Given the description of an element on the screen output the (x, y) to click on. 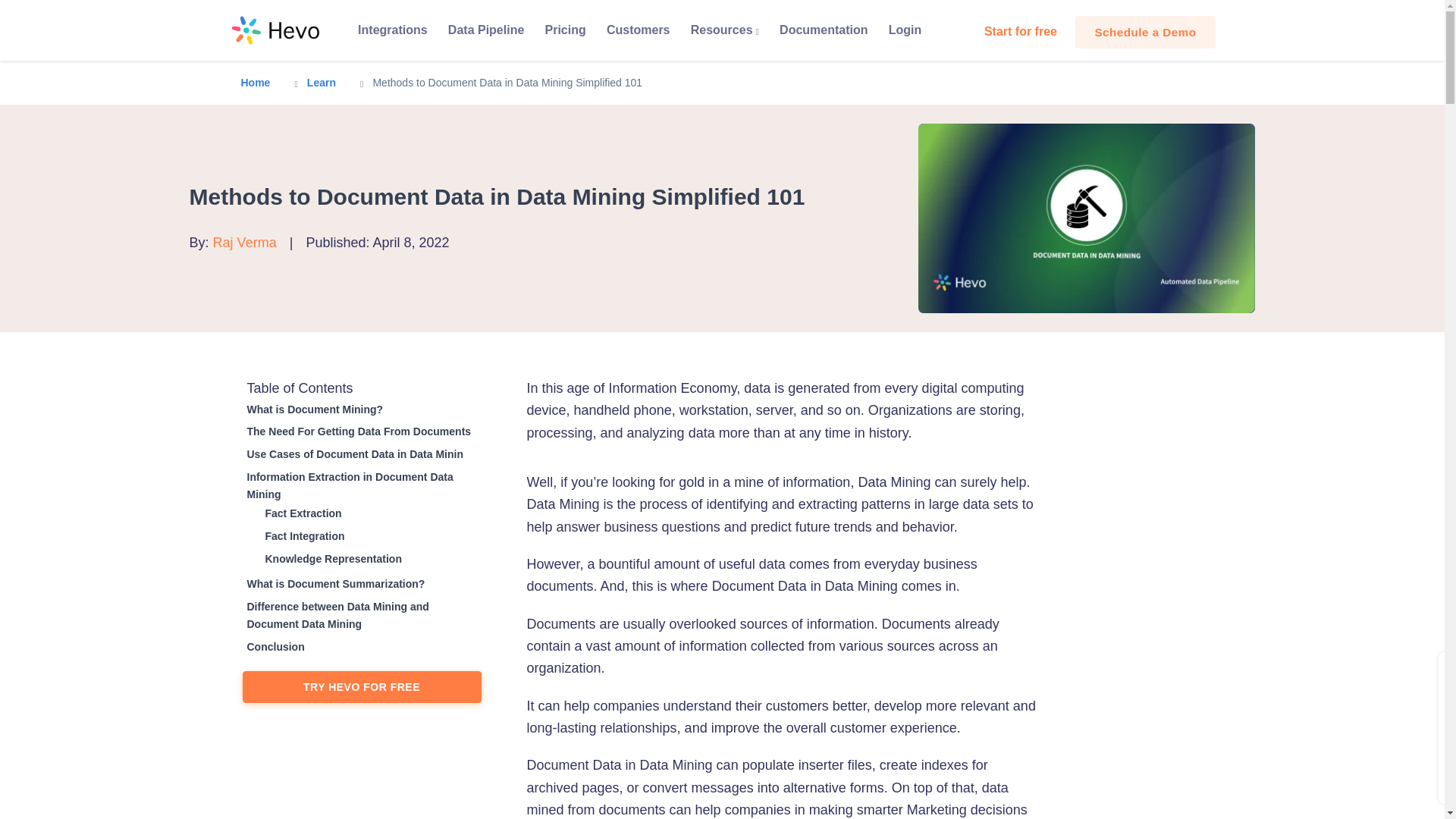
Difference between Data Mining and Document Data Mining (362, 615)
Schedule a Demo (1144, 31)
Fact Extraction (301, 513)
Pricing (564, 30)
Resources (723, 30)
TRY HEVO FOR FREE (362, 686)
What is Document Mining? (313, 409)
Conclusion (273, 647)
Fact Integration (302, 536)
Start for free (1021, 31)
The Need For Getting Data From Documents (357, 431)
Raj Verma (244, 242)
Fact Extraction (301, 513)
Information Extraction in Document Data Mining (362, 486)
Schedule a Demo (1144, 31)
